Given the description of an element on the screen output the (x, y) to click on. 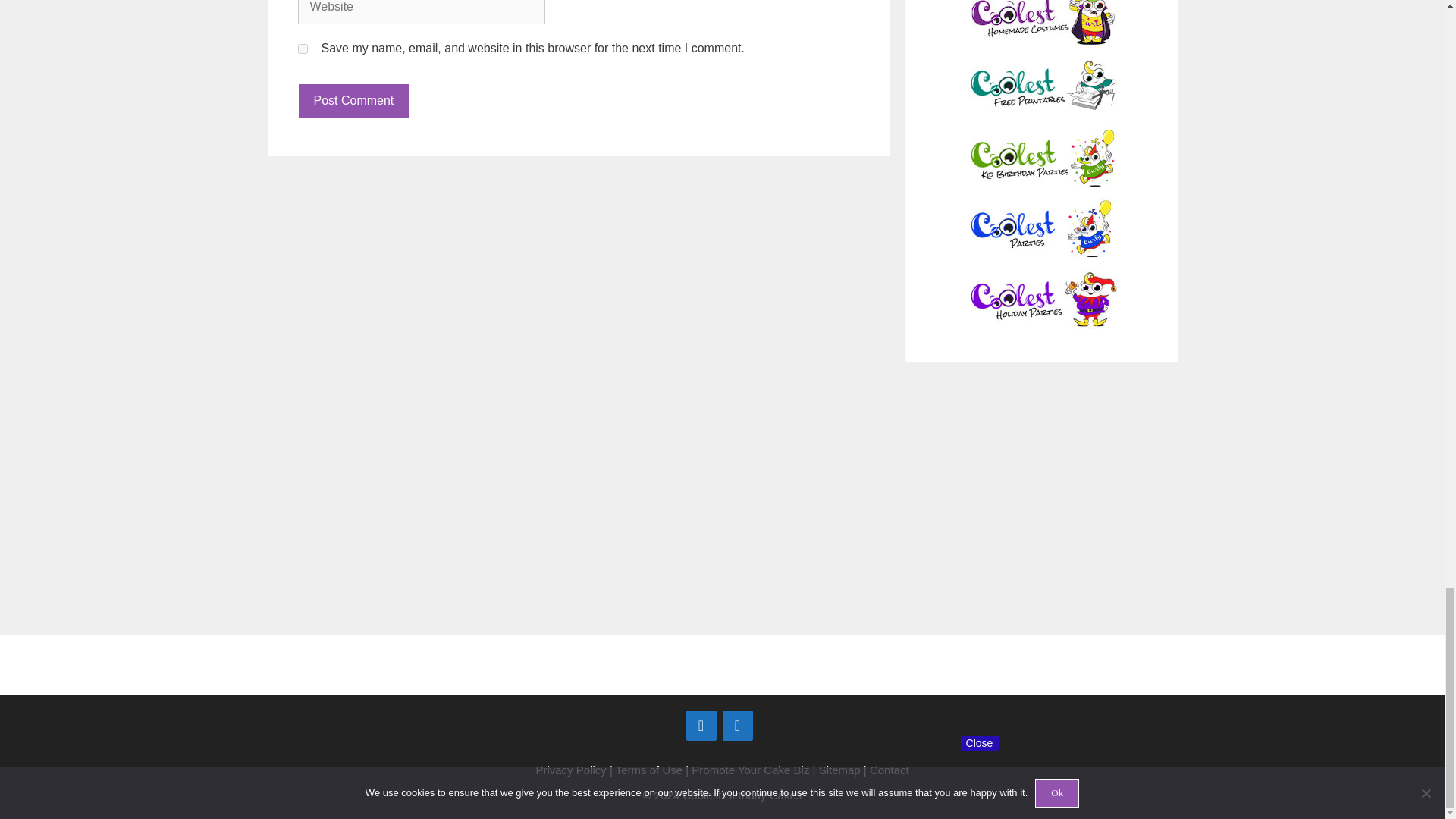
Facebook (700, 725)
Post Comment (353, 100)
yes (302, 49)
